Given the description of an element on the screen output the (x, y) to click on. 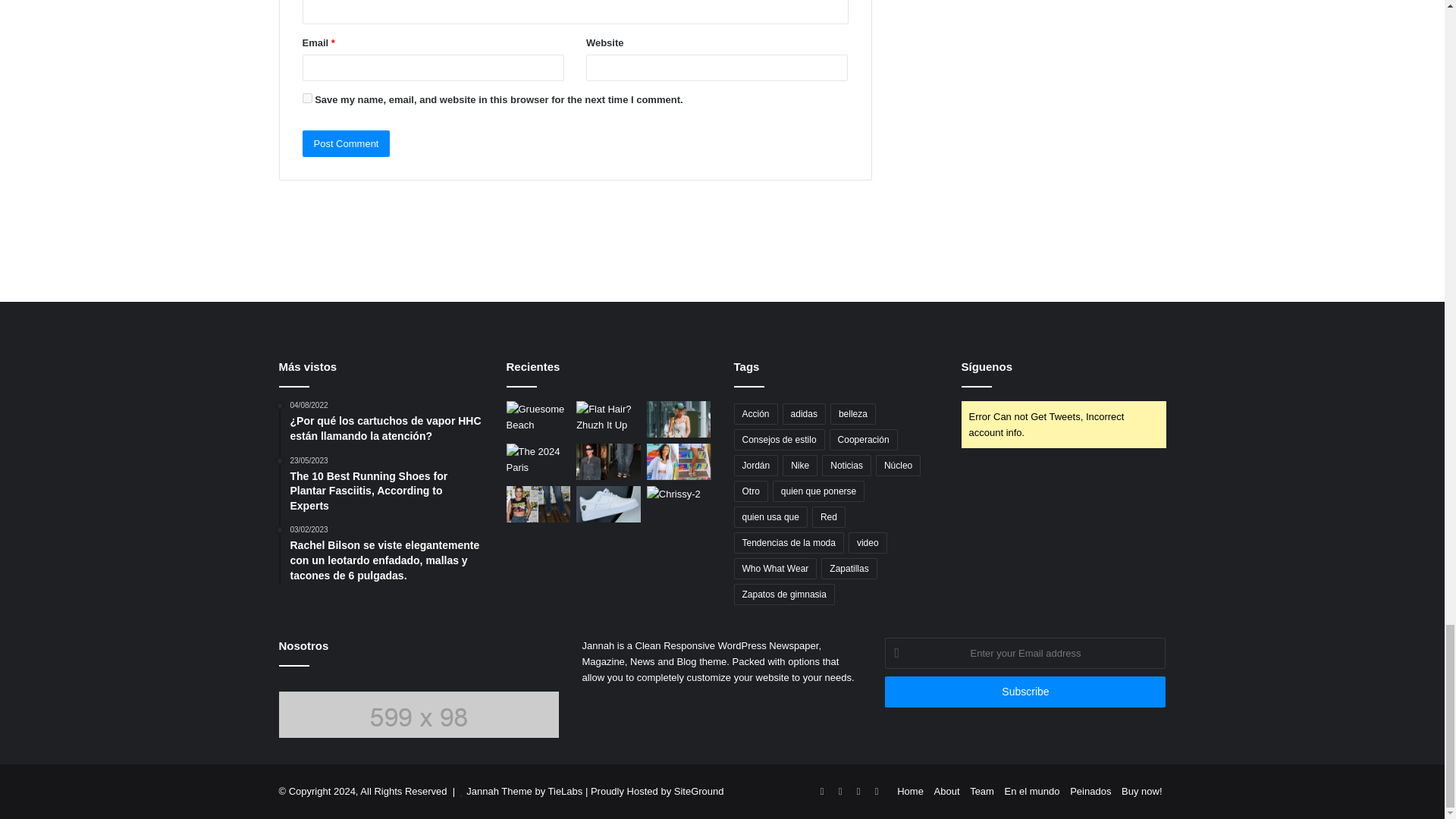
Subscribe (1025, 691)
Post Comment (345, 143)
yes (306, 98)
